Given the description of an element on the screen output the (x, y) to click on. 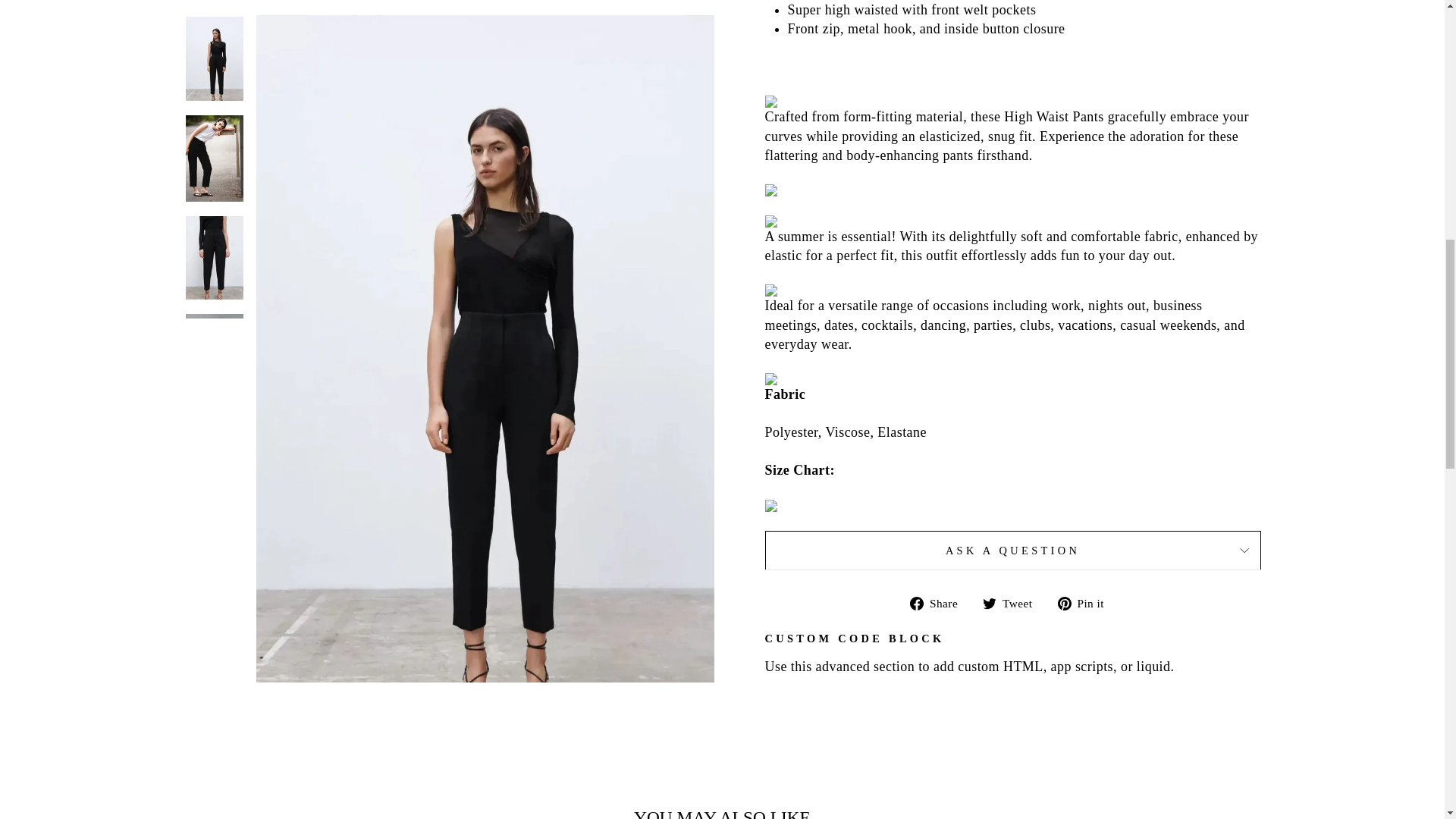
twitter (988, 603)
Pin on Pinterest (1086, 601)
Tweet on Twitter (1012, 601)
Share on Facebook (939, 601)
